Given the description of an element on the screen output the (x, y) to click on. 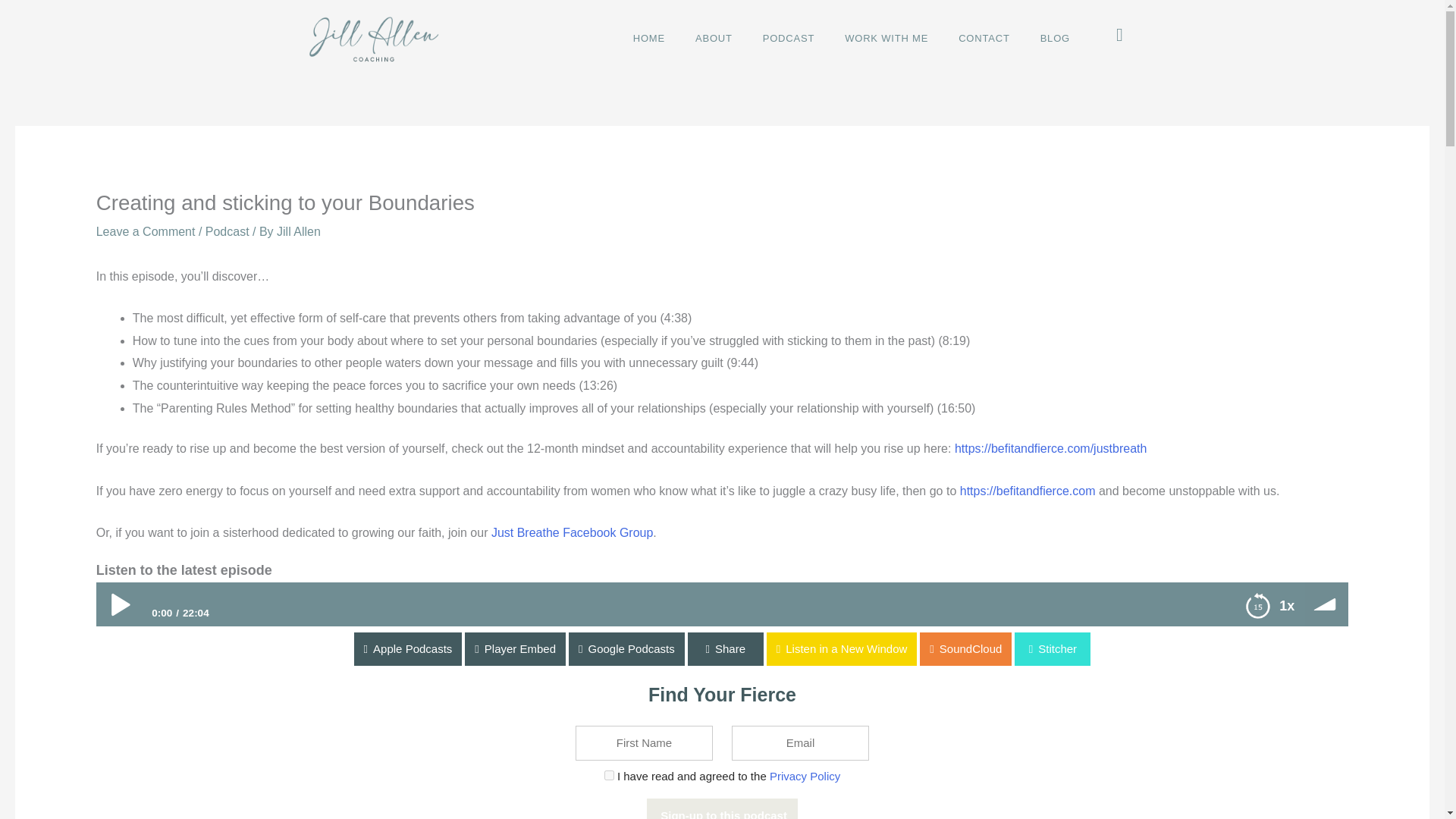
WORK WITH ME (886, 38)
HOME (648, 38)
Apple Podcasts (53, 648)
View all posts by Jill Allen (298, 231)
check (609, 775)
Player Embed (50, 648)
Just Breathe Facebook Group (572, 532)
Leave a Comment (145, 231)
ABOUT (713, 38)
PODCAST (788, 38)
Share (724, 648)
 Sign-up to this podcast (721, 808)
CONTACT (984, 38)
BLOG (1054, 38)
Podcast (226, 231)
